Given the description of an element on the screen output the (x, y) to click on. 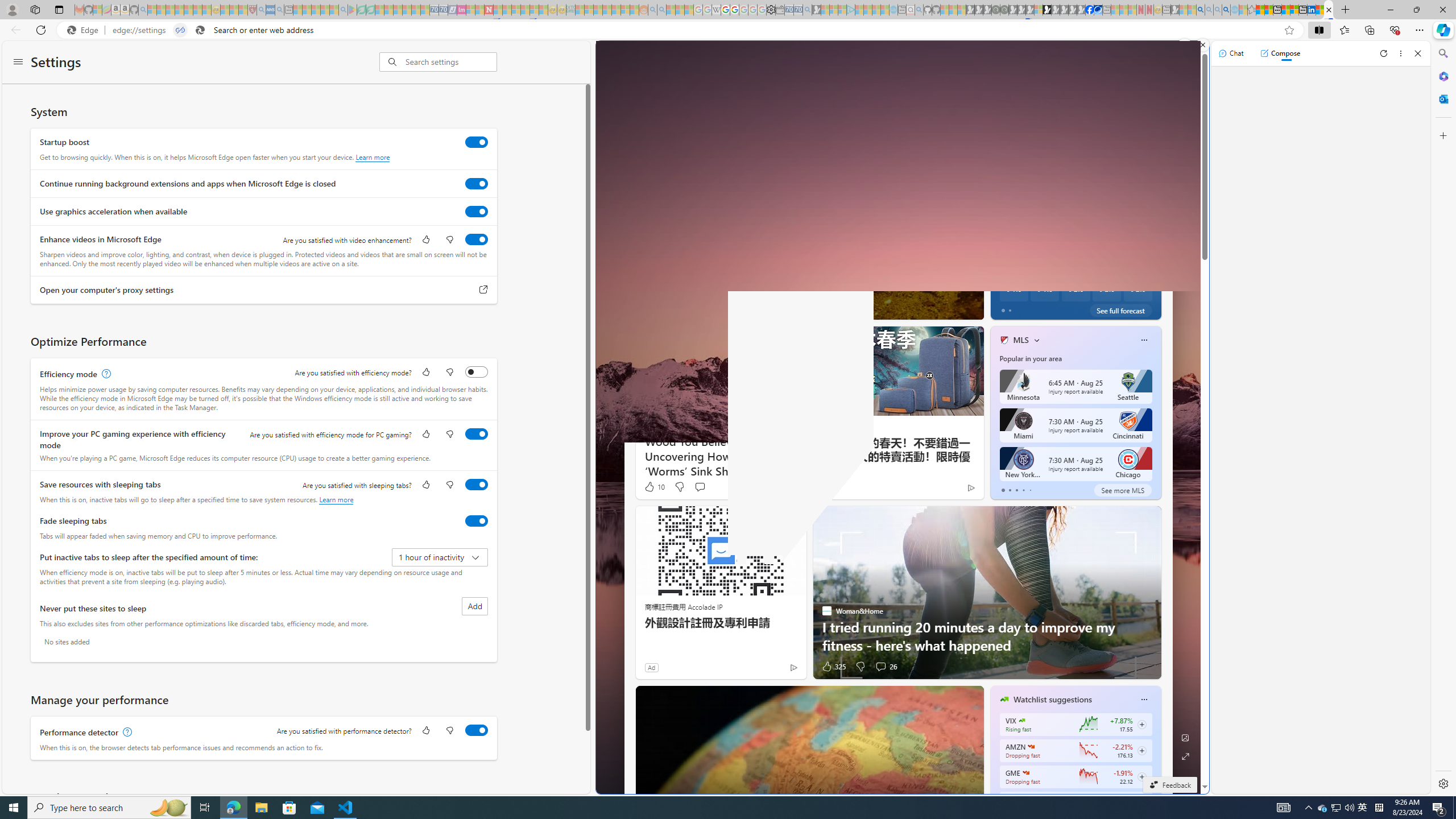
Efficiency mode, learn more (104, 374)
AutomationID: tab-25 (831, 308)
AutomationID: tab-22 (817, 308)
2 Like (1003, 307)
Improve your PC gaming experience with efficiency mode (476, 433)
